Given the description of an element on the screen output the (x, y) to click on. 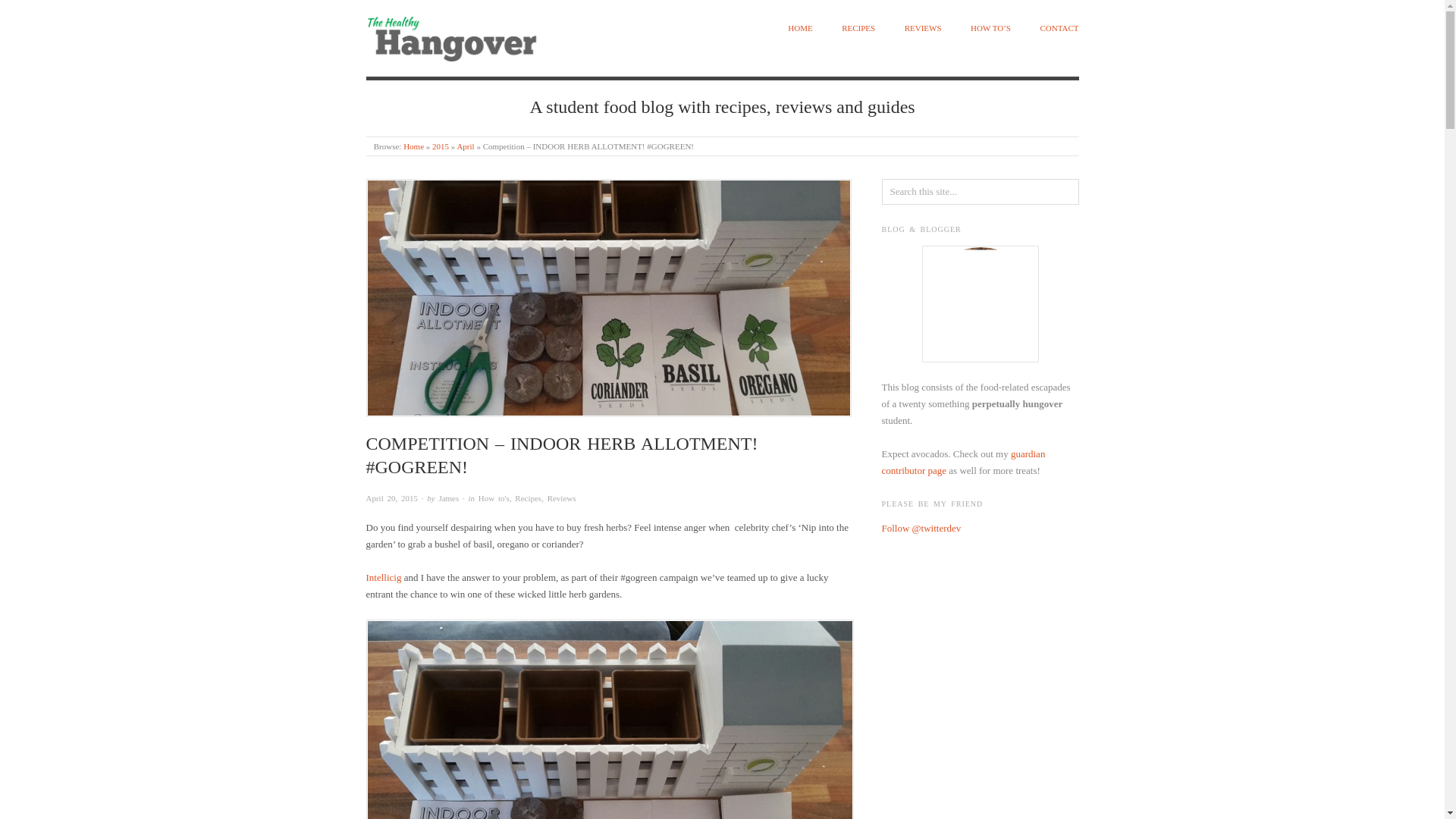
Home (413, 145)
RECIPES (858, 28)
Reviews (561, 497)
HOME (799, 28)
James (448, 497)
April 2015 (465, 145)
Recipes (528, 497)
Intellicig (384, 577)
How to's (494, 497)
CONTACT (1058, 28)
Search this site... (979, 191)
Search this site... (979, 191)
April (465, 145)
2015 (440, 145)
